Given the description of an element on the screen output the (x, y) to click on. 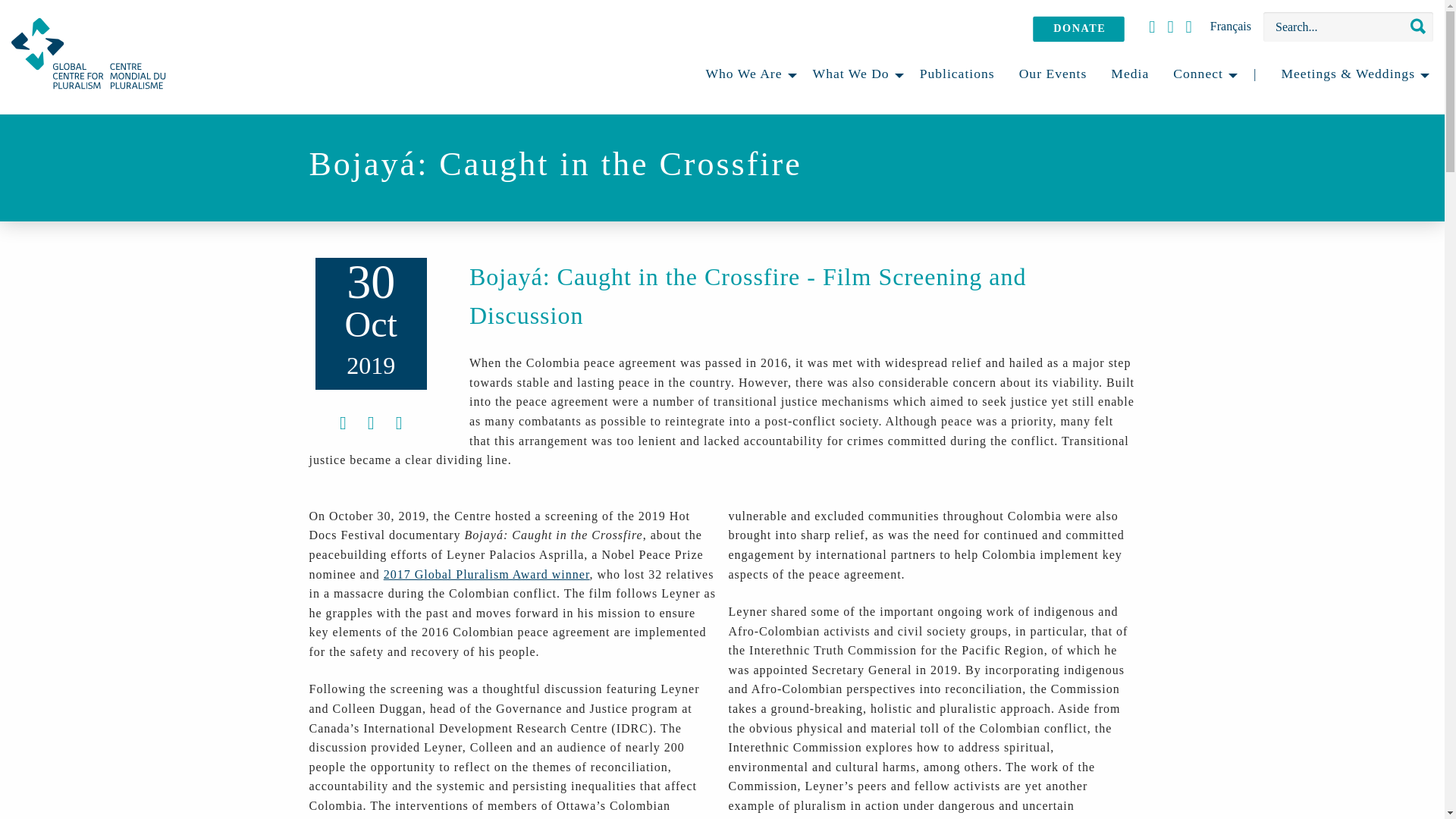
Publications (957, 75)
What We Do (853, 75)
youtube (1151, 26)
Our Events (1053, 75)
DONATE (1093, 33)
Connect (1200, 75)
twitter (1188, 26)
Media (1129, 75)
Who We Are (746, 75)
facebook (1169, 26)
